Given the description of an element on the screen output the (x, y) to click on. 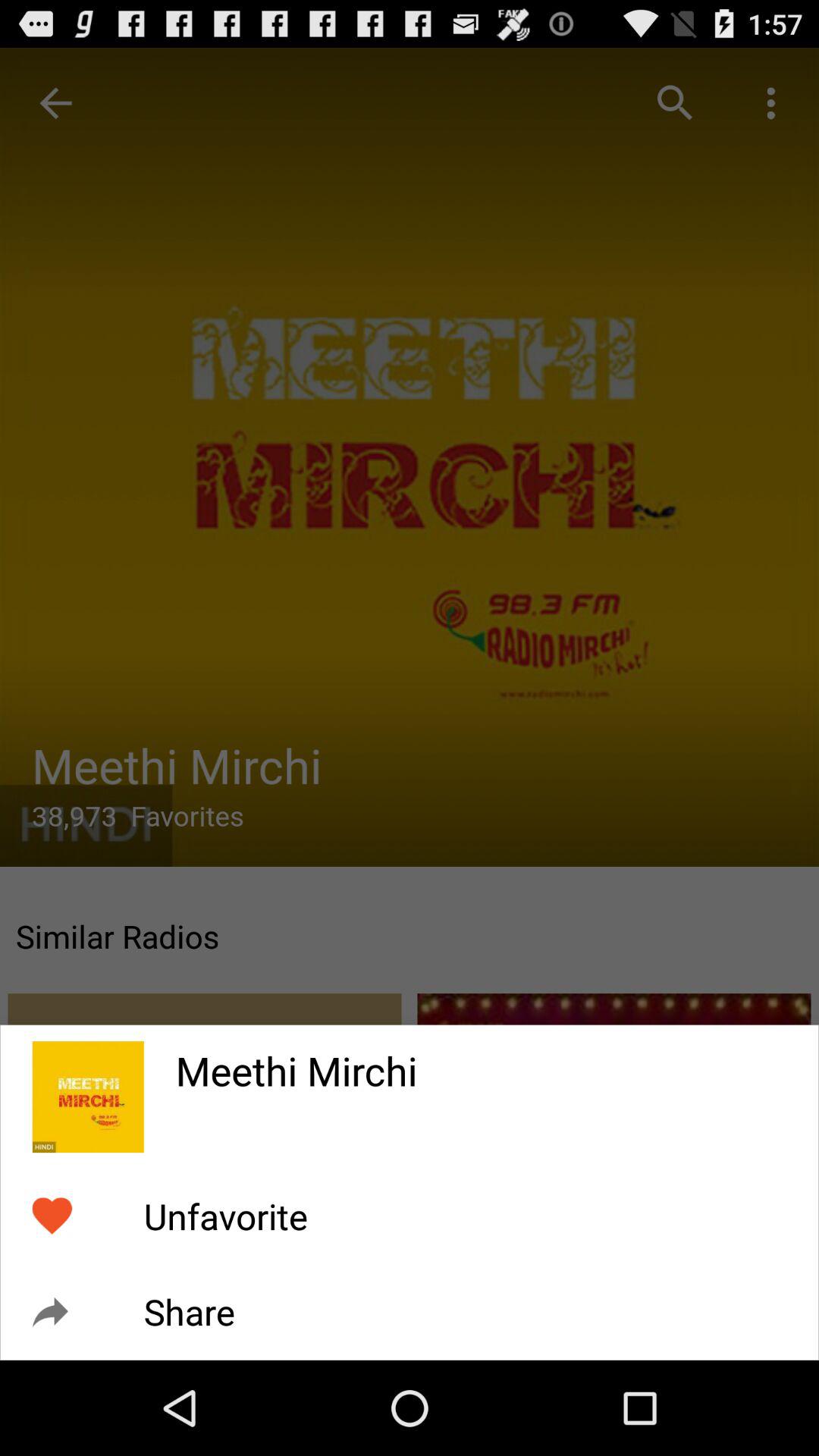
open icon to the left of the meethi mirchi item (87, 1096)
